Given the description of an element on the screen output the (x, y) to click on. 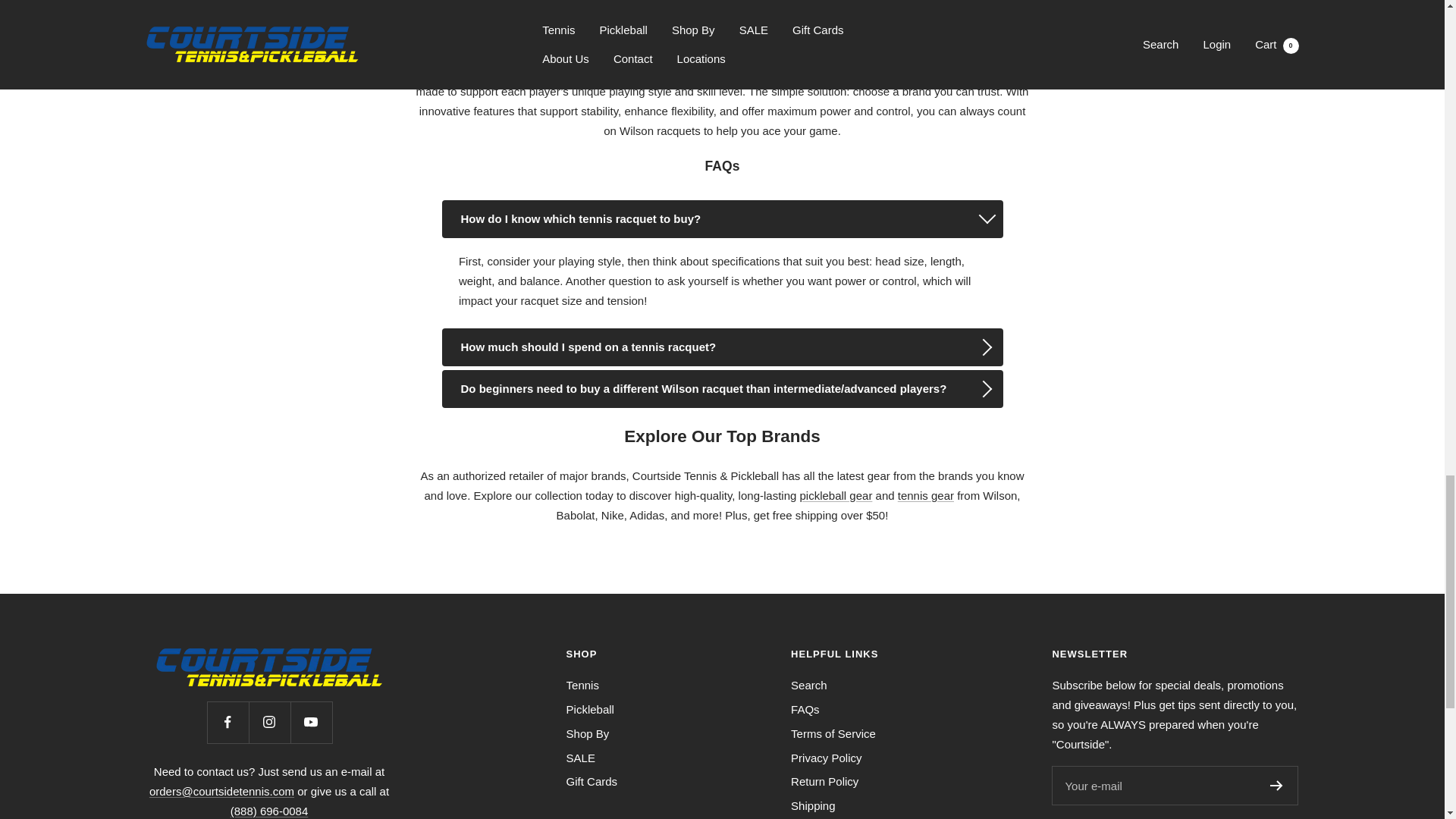
tel:8886960084 (269, 810)
Register (1275, 785)
